Given the description of an element on the screen output the (x, y) to click on. 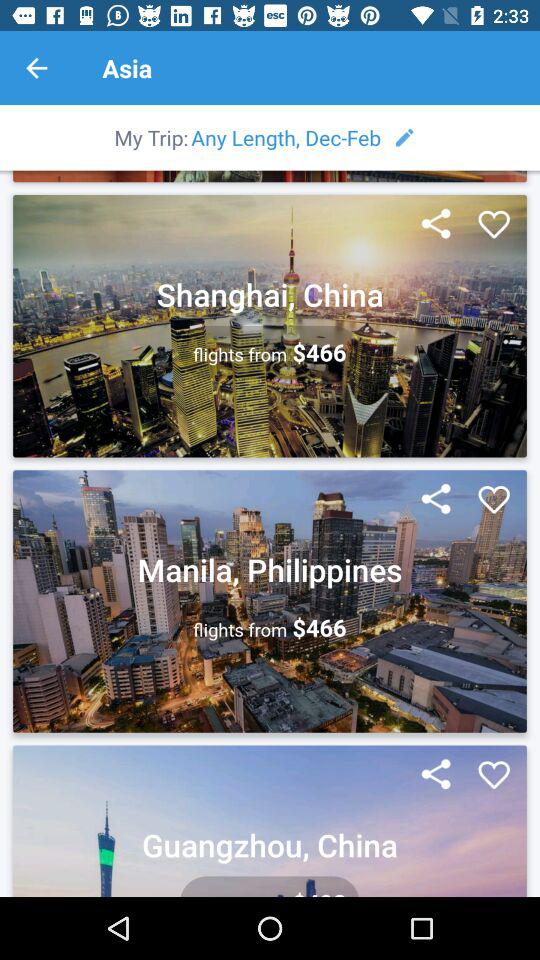
use my location (435, 500)
